Given the description of an element on the screen output the (x, y) to click on. 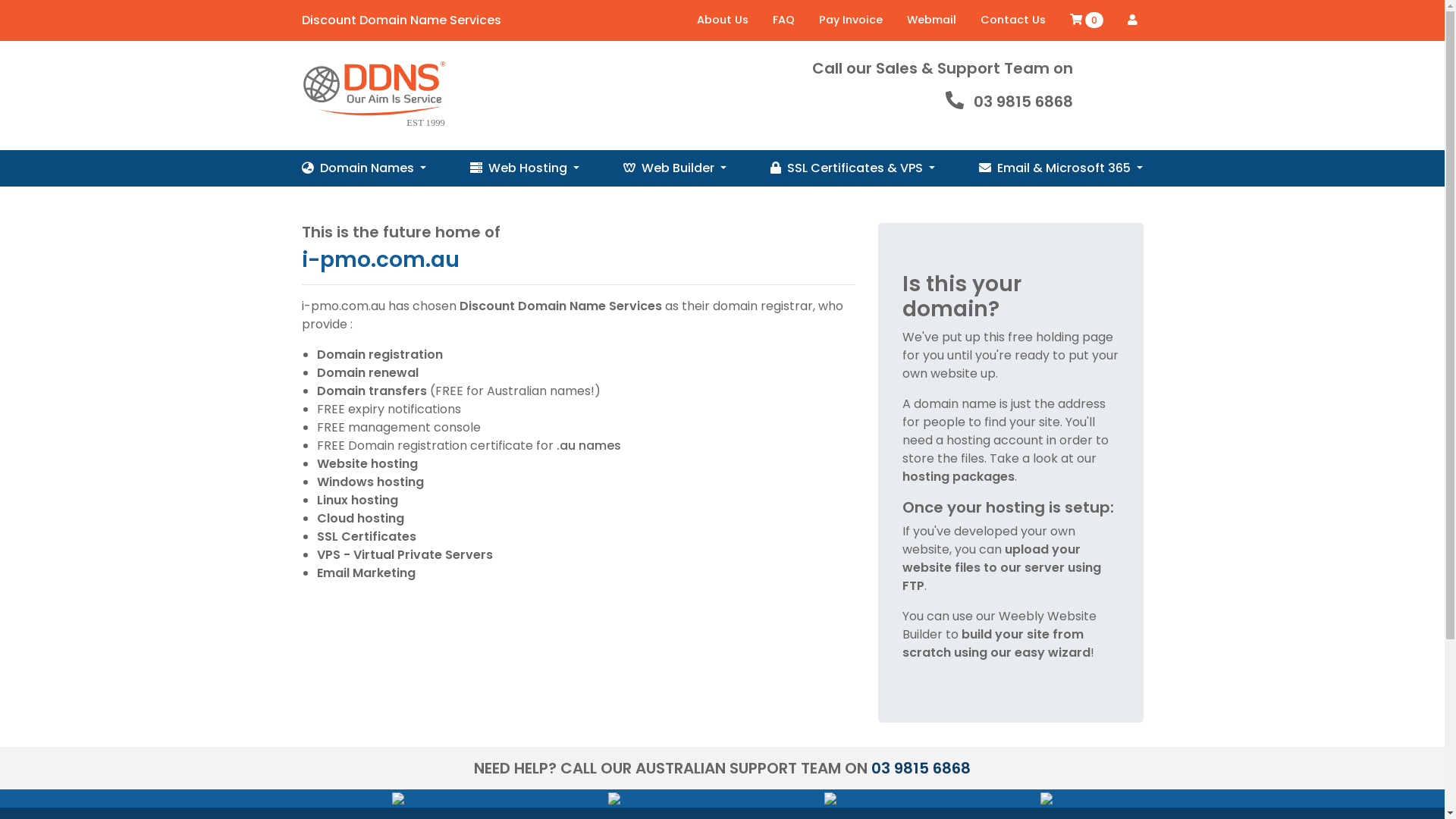
Email Marketing Element type: text (365, 572)
ICANN Element type: hover (830, 797)
0 Element type: text (1085, 20)
Pay Invoice Element type: text (850, 20)
Linux hosting Element type: text (357, 499)
About Us Element type: text (721, 20)
Login Element type: hover (1131, 19)
Domain renewal Element type: text (367, 372)
Web Hosting Element type: text (524, 168)
SSL Certificates & VPS Element type: text (852, 168)
FAQ Element type: text (782, 20)
Domain registration Element type: text (379, 354)
Email & Microsoft 365 Element type: text (1060, 168)
Domain Names Element type: text (363, 168)
Discount Domain Name Services Element type: text (401, 20)
upload your website files to our server using FTP Element type: text (1001, 567)
Website hosting Element type: text (366, 463)
Domain transfers Element type: text (371, 390)
Discount Domain Name Services Element type: text (560, 305)
VPS - Virtual Private Servers Element type: text (404, 554)
Contact Us Element type: text (1012, 20)
Windows hosting Element type: text (369, 481)
Web Builder Element type: text (674, 168)
Cloud hosting Element type: text (360, 518)
03 9815 6868 Element type: text (1023, 101)
Webmail Element type: text (931, 20)
hosting packages Element type: text (958, 476)
build your site from scratch using our easy wizard Element type: text (996, 643)
SSL Certificates Element type: text (366, 536)
03 9815 6868 Element type: text (920, 767)
Discount Domain Name Services Element type: hover (372, 95)
